Given the description of an element on the screen output the (x, y) to click on. 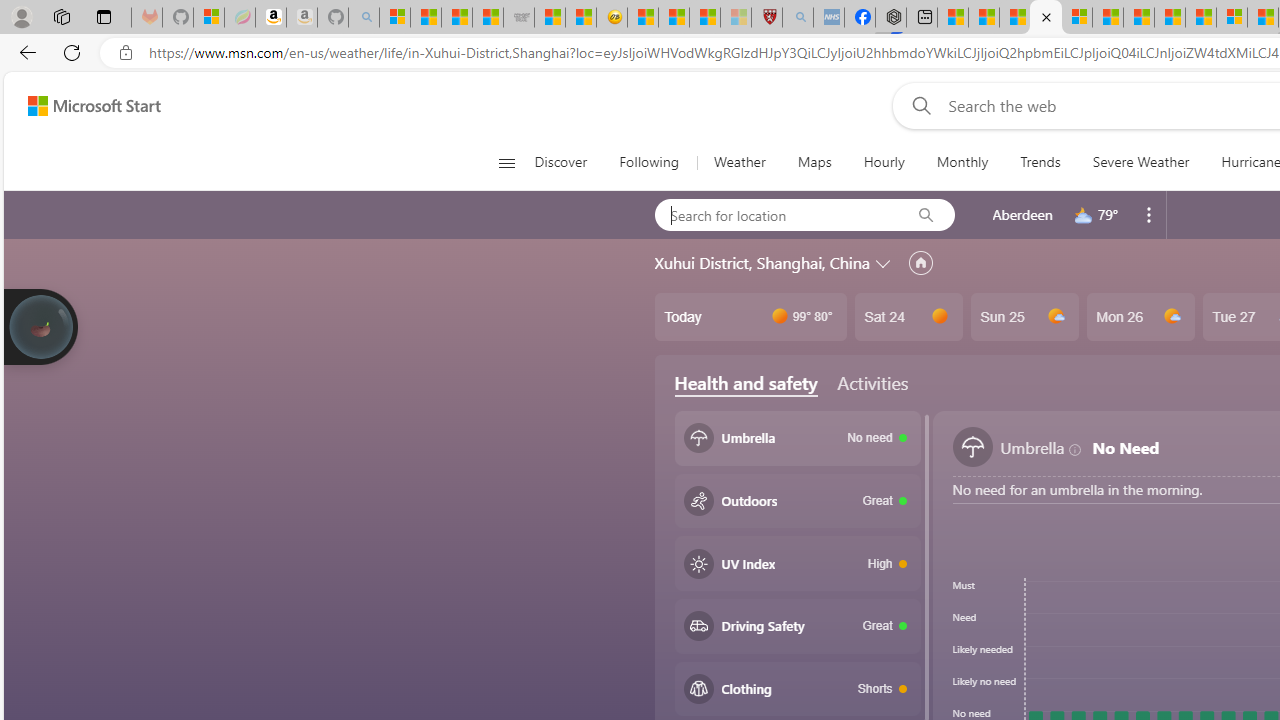
Trusted Community Engagement and Contributions | Guidelines (1200, 17)
Stocks - MSN (487, 17)
12 Popular Science Lies that Must be Corrected - Sleeping (735, 17)
Microsoft-Report a Concern to Bing (208, 17)
Join us in planting real trees to help our planet! (40, 325)
Weather (738, 162)
Microsoft account | Privacy (1076, 17)
Monthly (962, 162)
Clothing Shorts (797, 688)
Join us in planting real trees to help our planet! (40, 327)
